Given the description of an element on the screen output the (x, y) to click on. 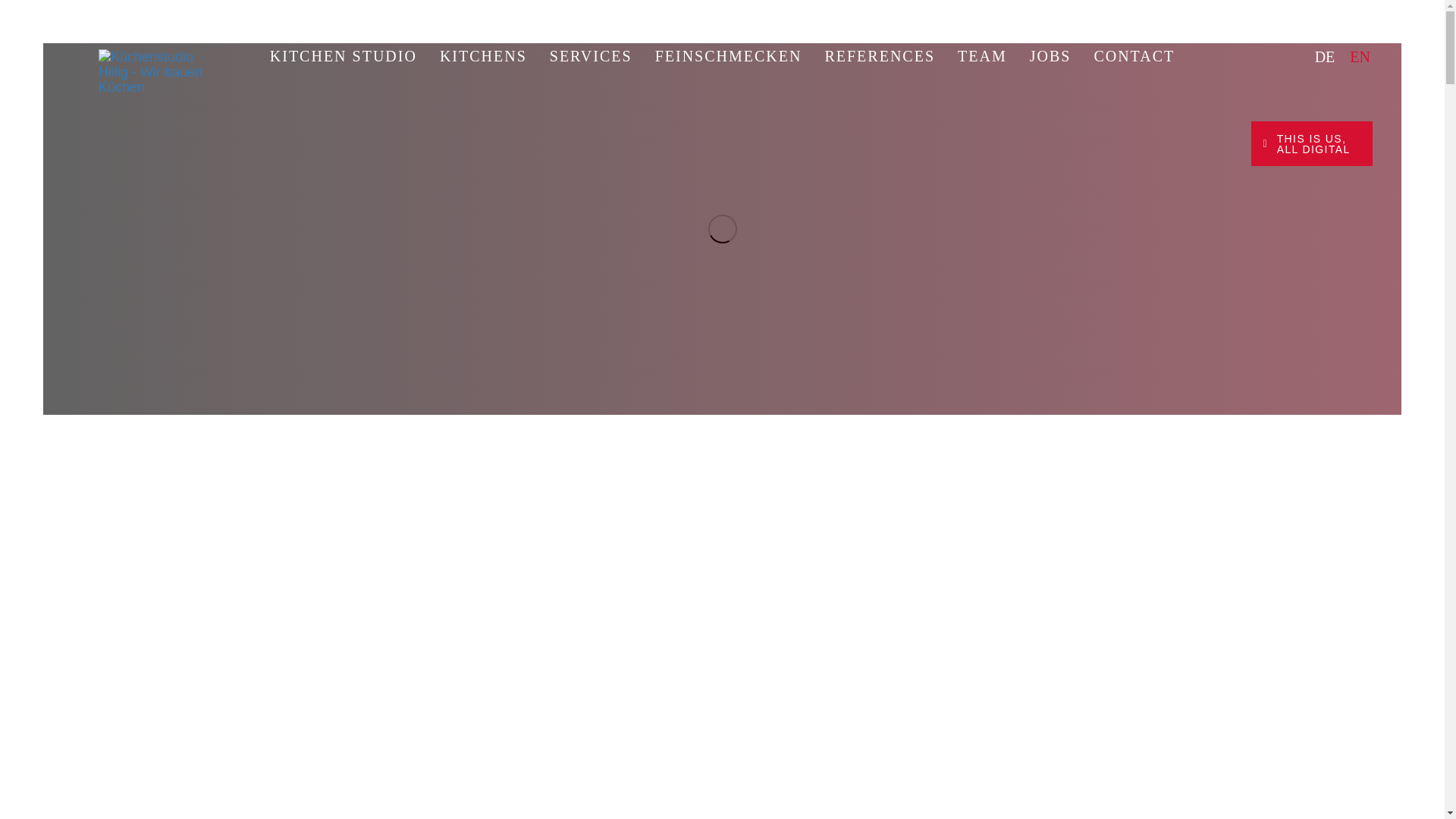
KITCHEN STUDIO (343, 56)
THIS IS US, ALL DIGITAL (1311, 143)
EN (1359, 56)
DE (1324, 56)
REFERENCES (879, 56)
CONTACT (1133, 56)
Open Cookie Preferences (32, 799)
KITCHENS (483, 56)
TEAM (981, 56)
JOBS (1050, 56)
FEINSCHMECKEN (728, 56)
SERVICES (590, 56)
